Given the description of an element on the screen output the (x, y) to click on. 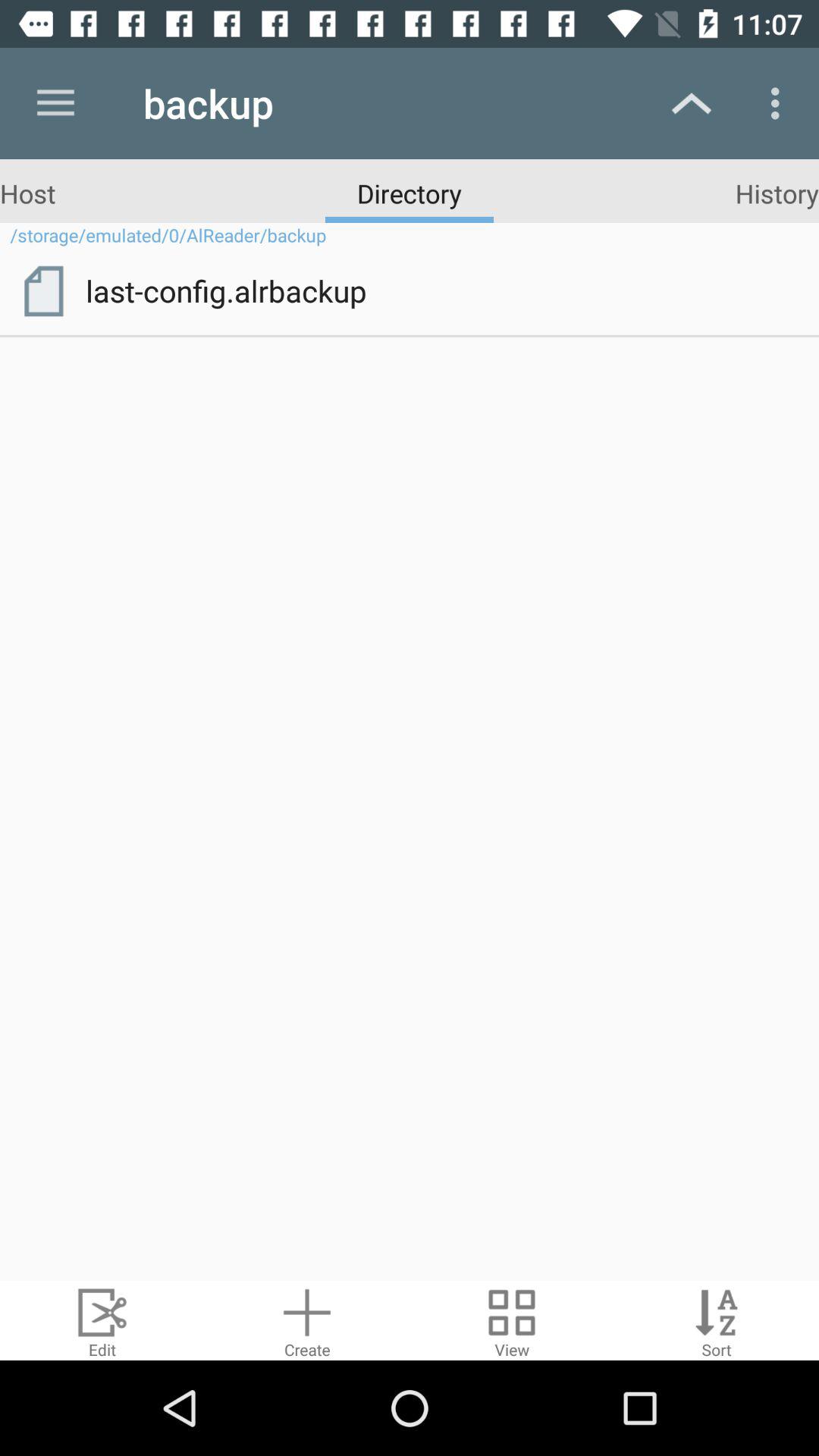
turn on item next to the last-config.alrbackup (43, 291)
